Given the description of an element on the screen output the (x, y) to click on. 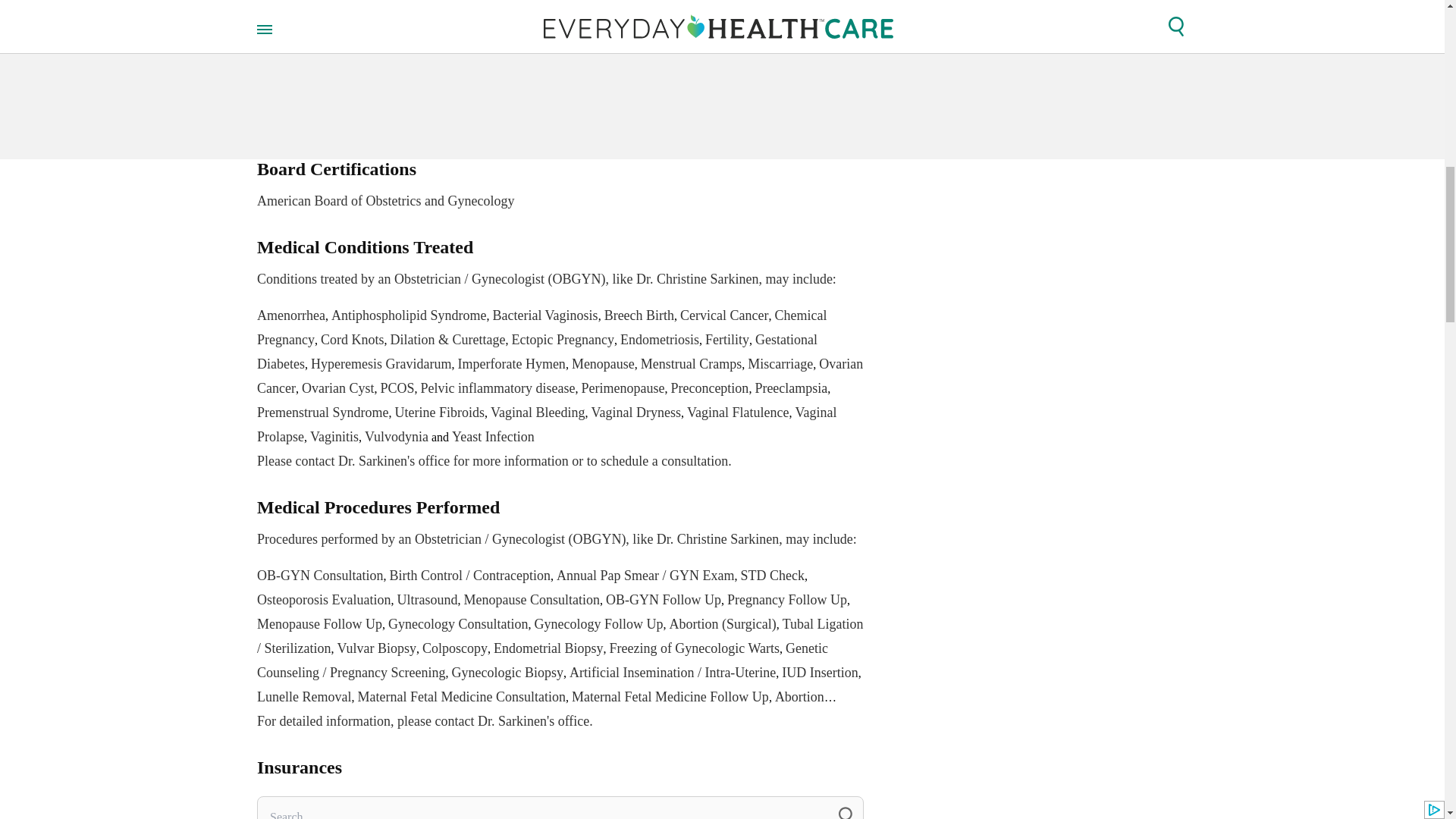
Cord Knots (352, 339)
Menstrual Cramps (690, 363)
Premenstrual Syndrome (322, 412)
Perimenopause (621, 387)
Vaginal Prolapse (546, 424)
Preeclampsia (790, 387)
Vaginitis (334, 436)
Miscarriage (780, 363)
Ovarian Cancer (560, 375)
